Given the description of an element on the screen output the (x, y) to click on. 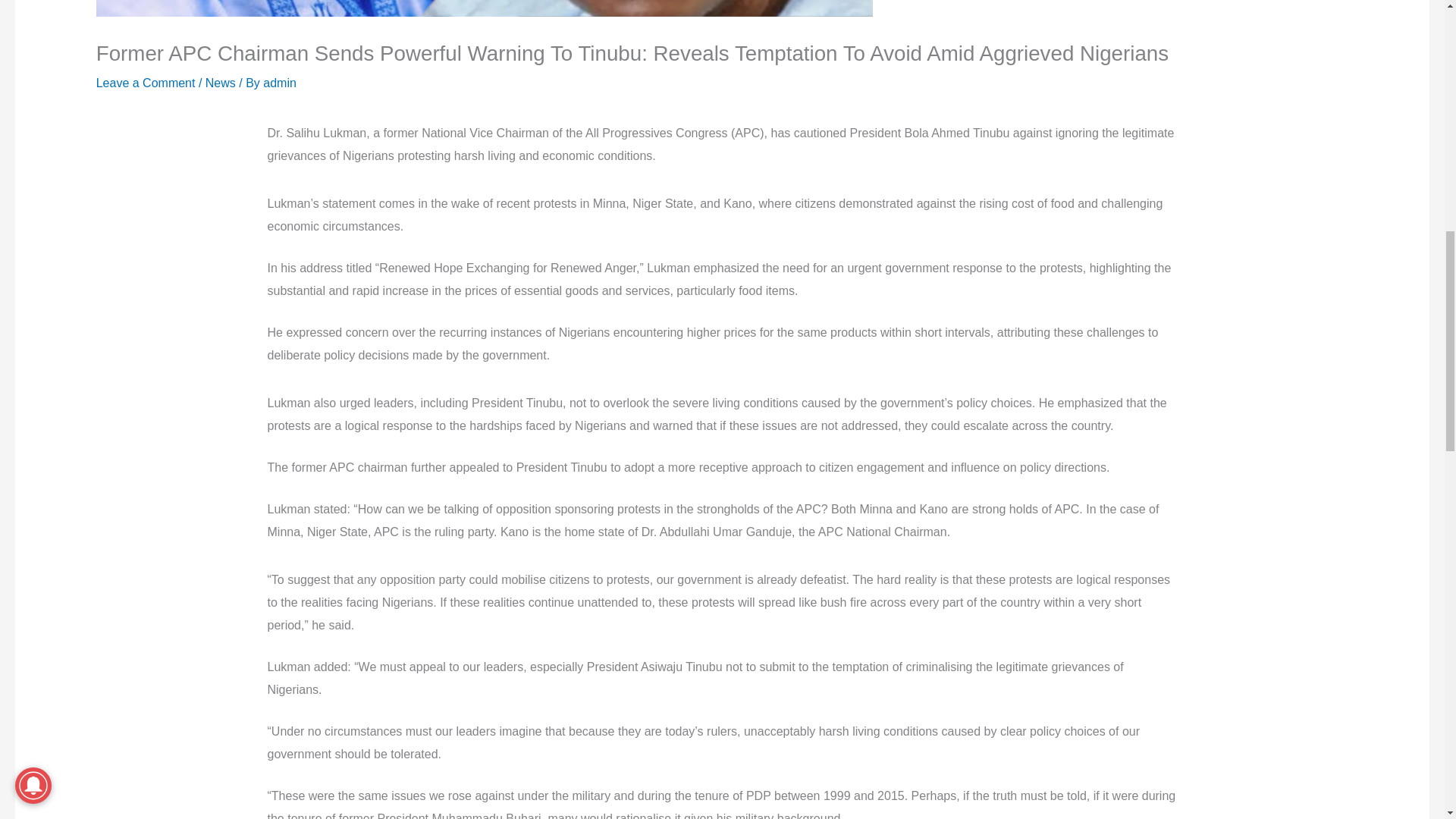
View all posts by admin (280, 82)
Leave a Comment (145, 82)
admin (280, 82)
News (220, 82)
